Given the description of an element on the screen output the (x, y) to click on. 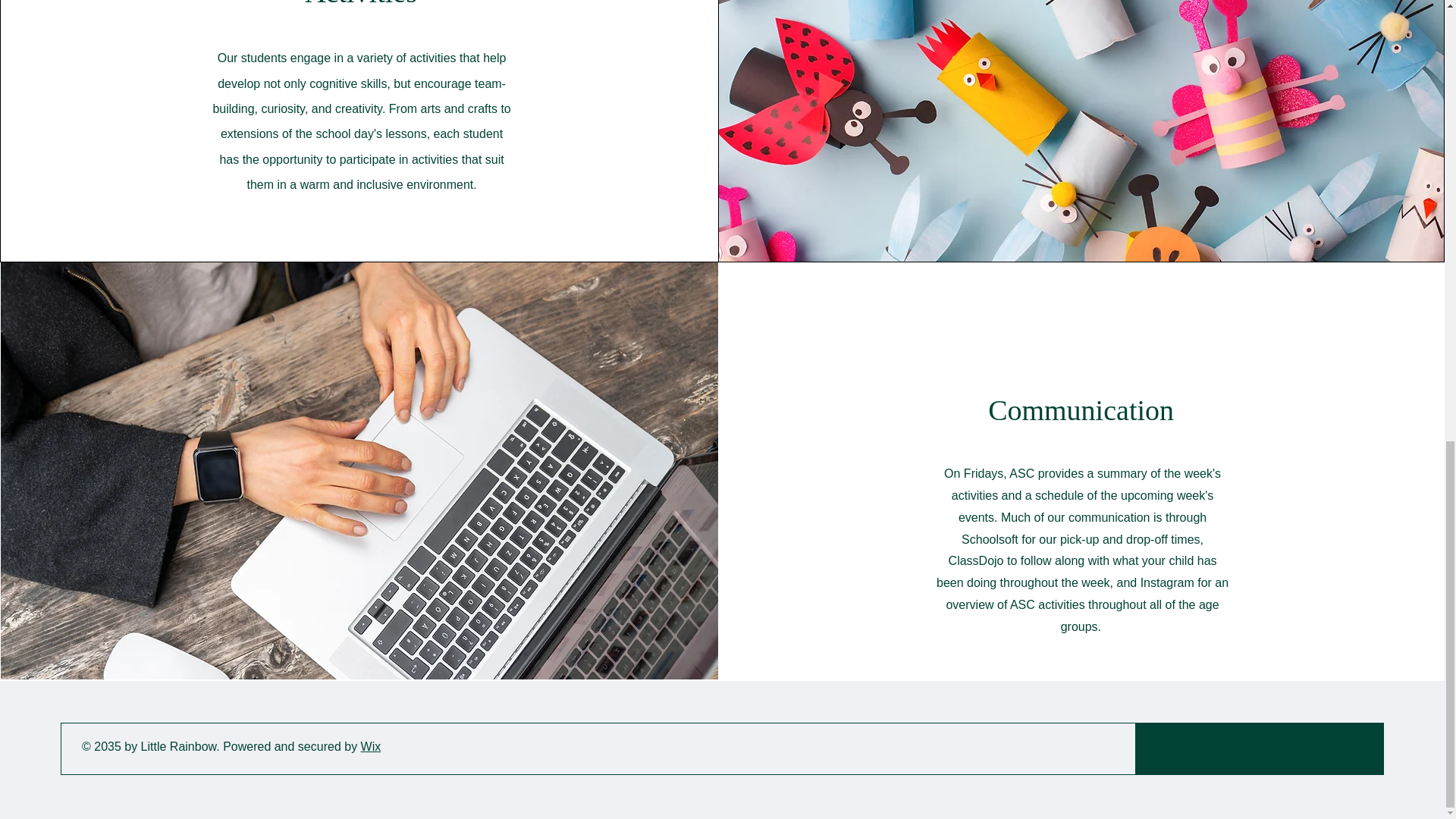
Wix (371, 746)
